Given the description of an element on the screen output the (x, y) to click on. 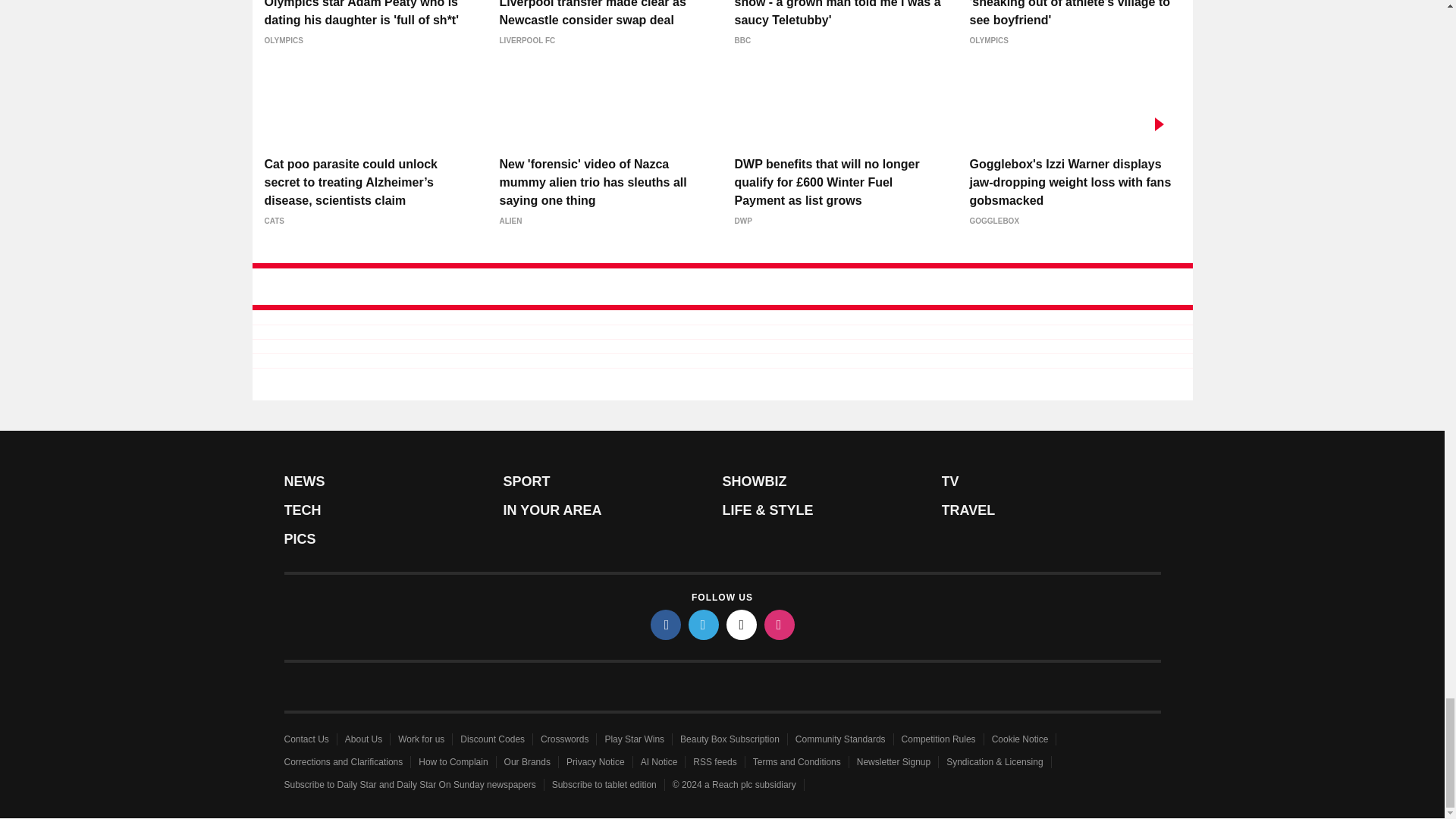
instagram (779, 624)
tiktok (741, 624)
twitter (703, 624)
facebook (665, 624)
